Given the description of an element on the screen output the (x, y) to click on. 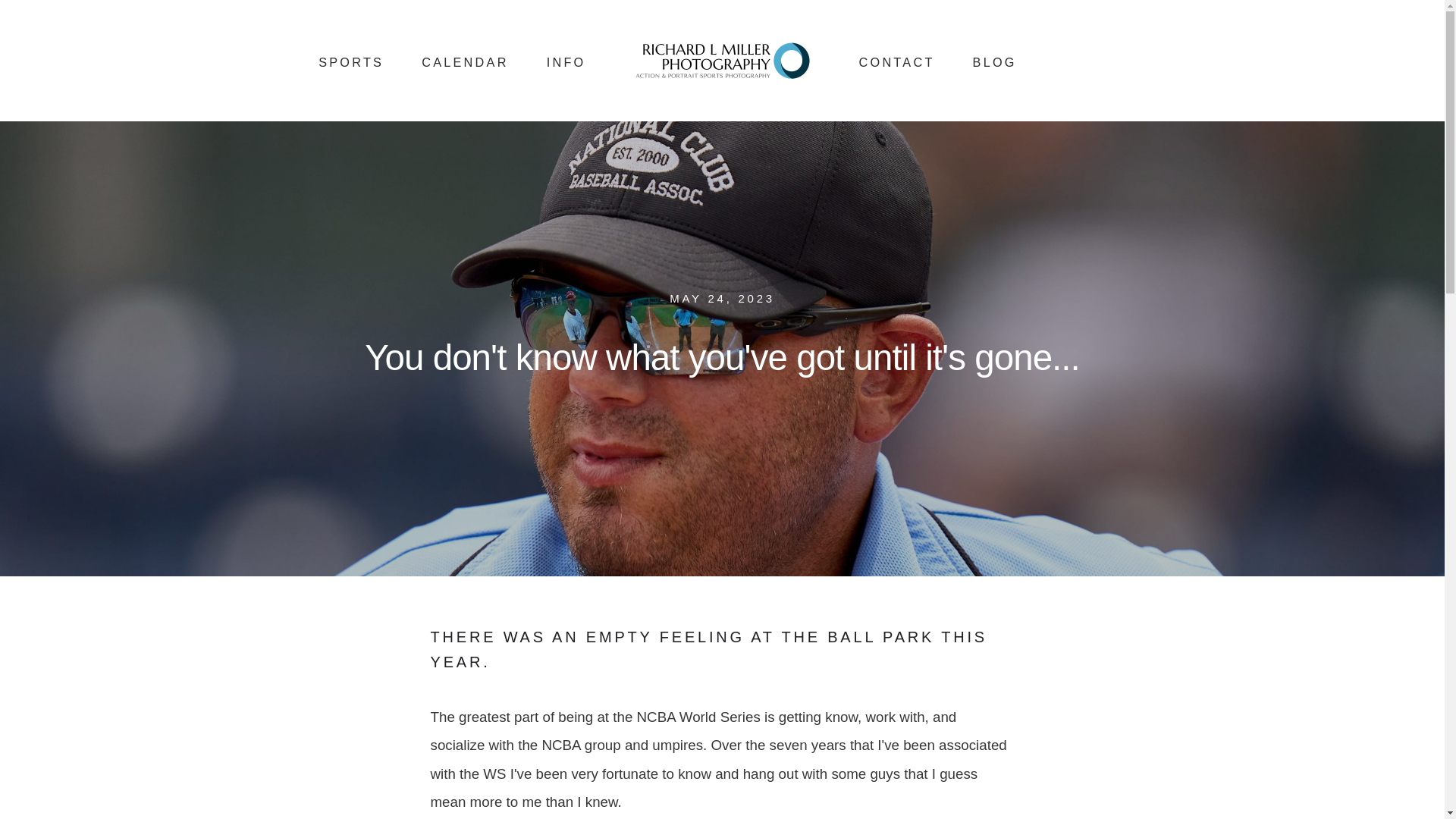
SPORTS (351, 61)
CALENDAR (465, 61)
INFO (566, 61)
BLOG (994, 61)
CONTACT (896, 61)
